Given the description of an element on the screen output the (x, y) to click on. 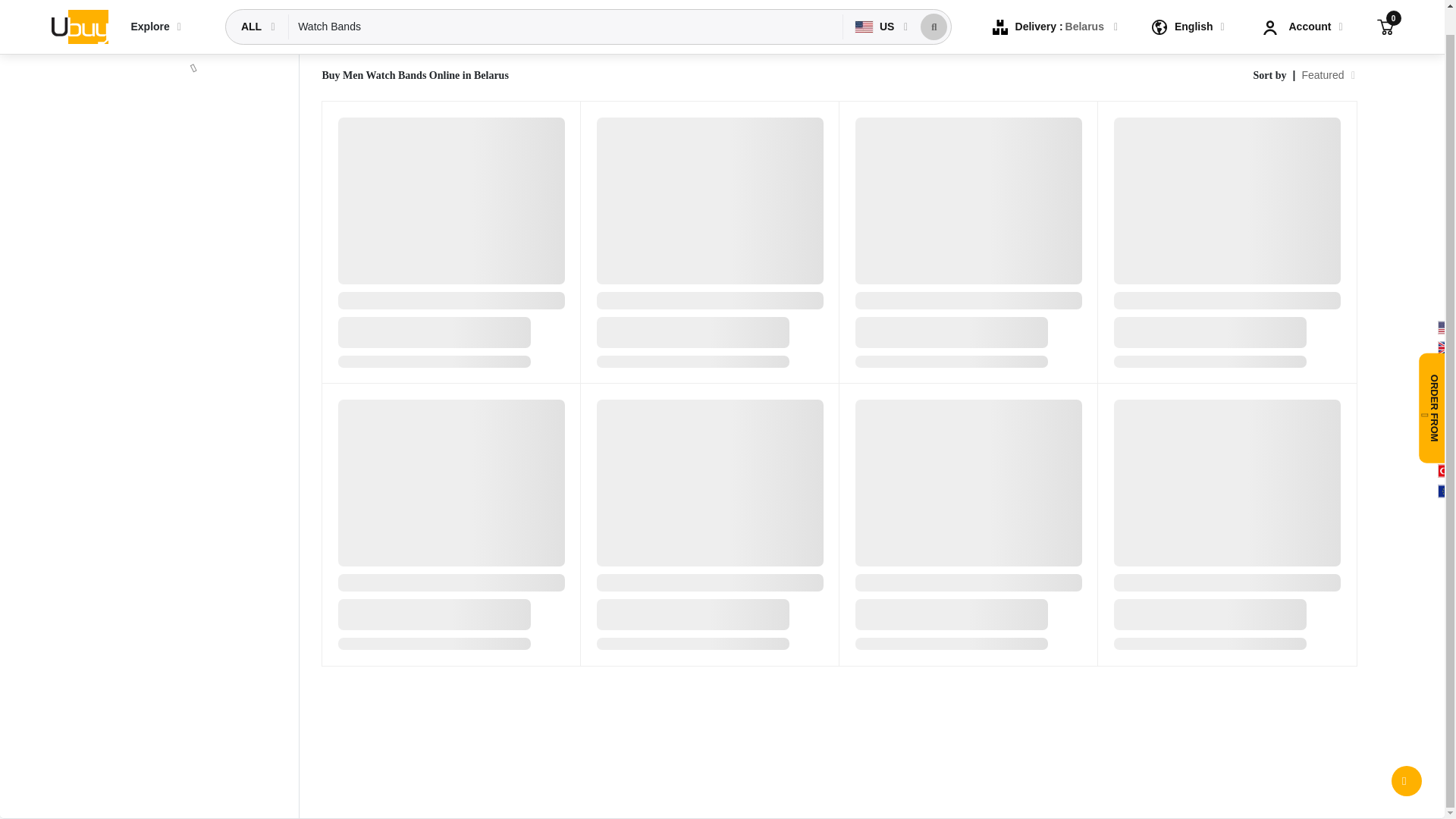
US (875, 7)
Watch Bands (565, 7)
ALL (253, 7)
Ubuy (78, 11)
0 (1385, 4)
